Given the description of an element on the screen output the (x, y) to click on. 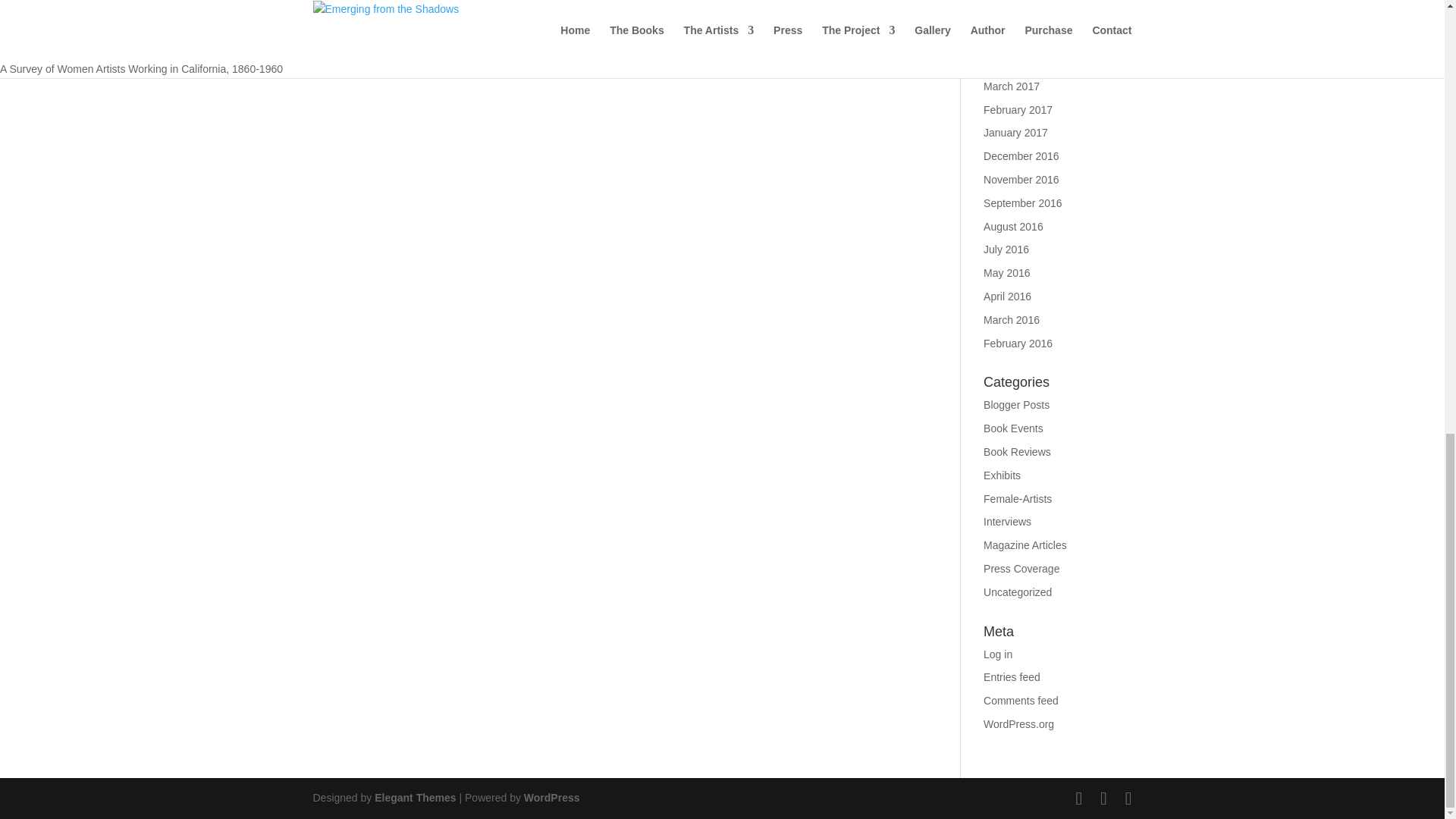
Premium WordPress Themes (414, 797)
